Given the description of an element on the screen output the (x, y) to click on. 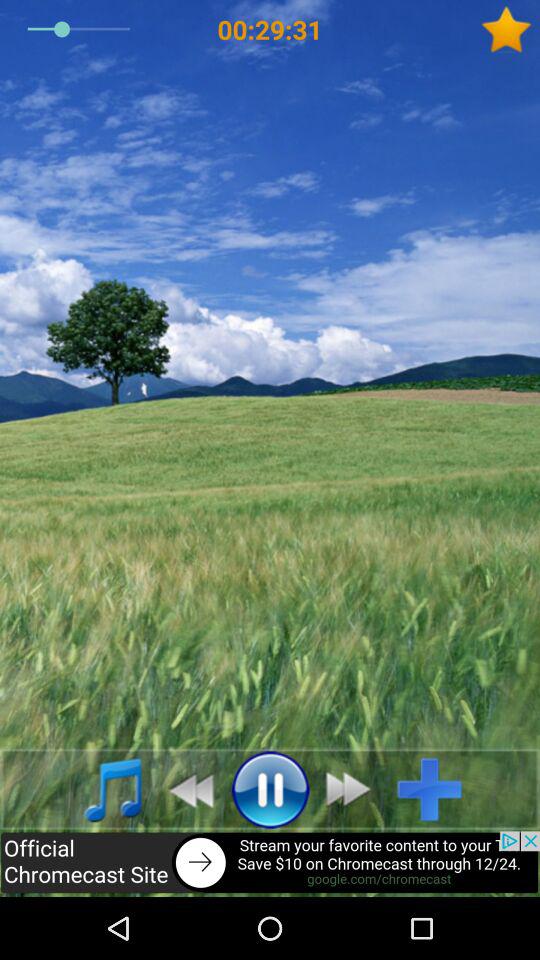
go to music (102, 789)
